Given the description of an element on the screen output the (x, y) to click on. 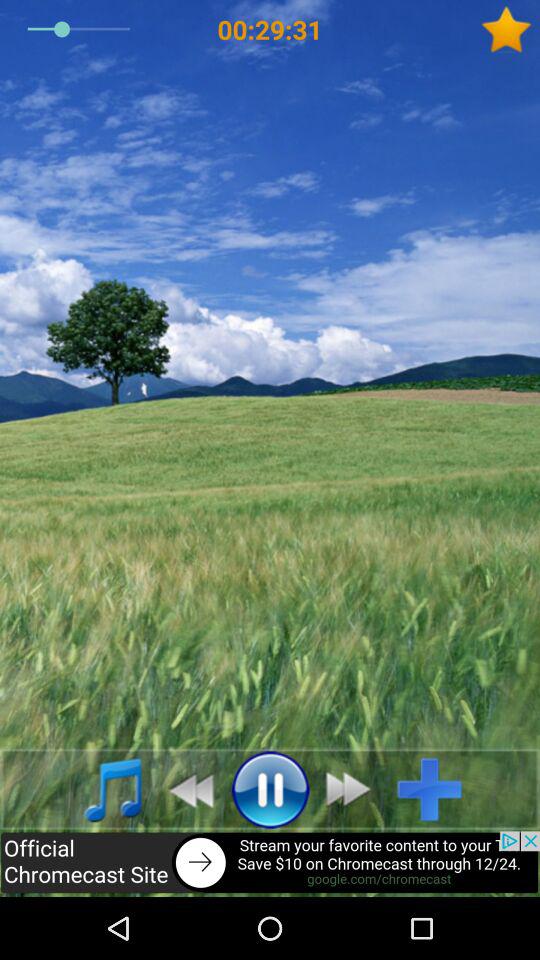
go to music (102, 789)
